Given the description of an element on the screen output the (x, y) to click on. 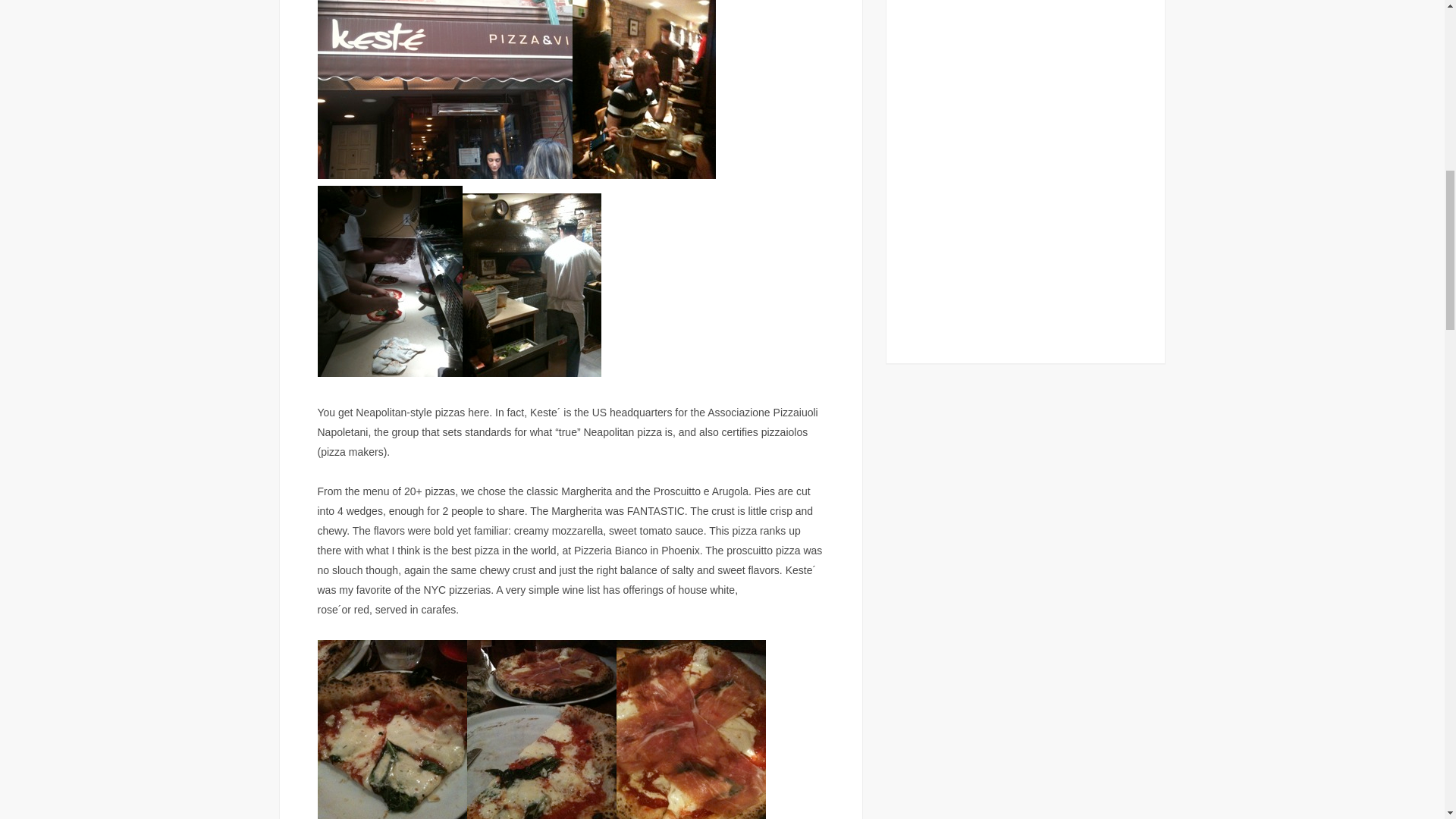
Advertisement (1024, 168)
